Given the description of an element on the screen output the (x, y) to click on. 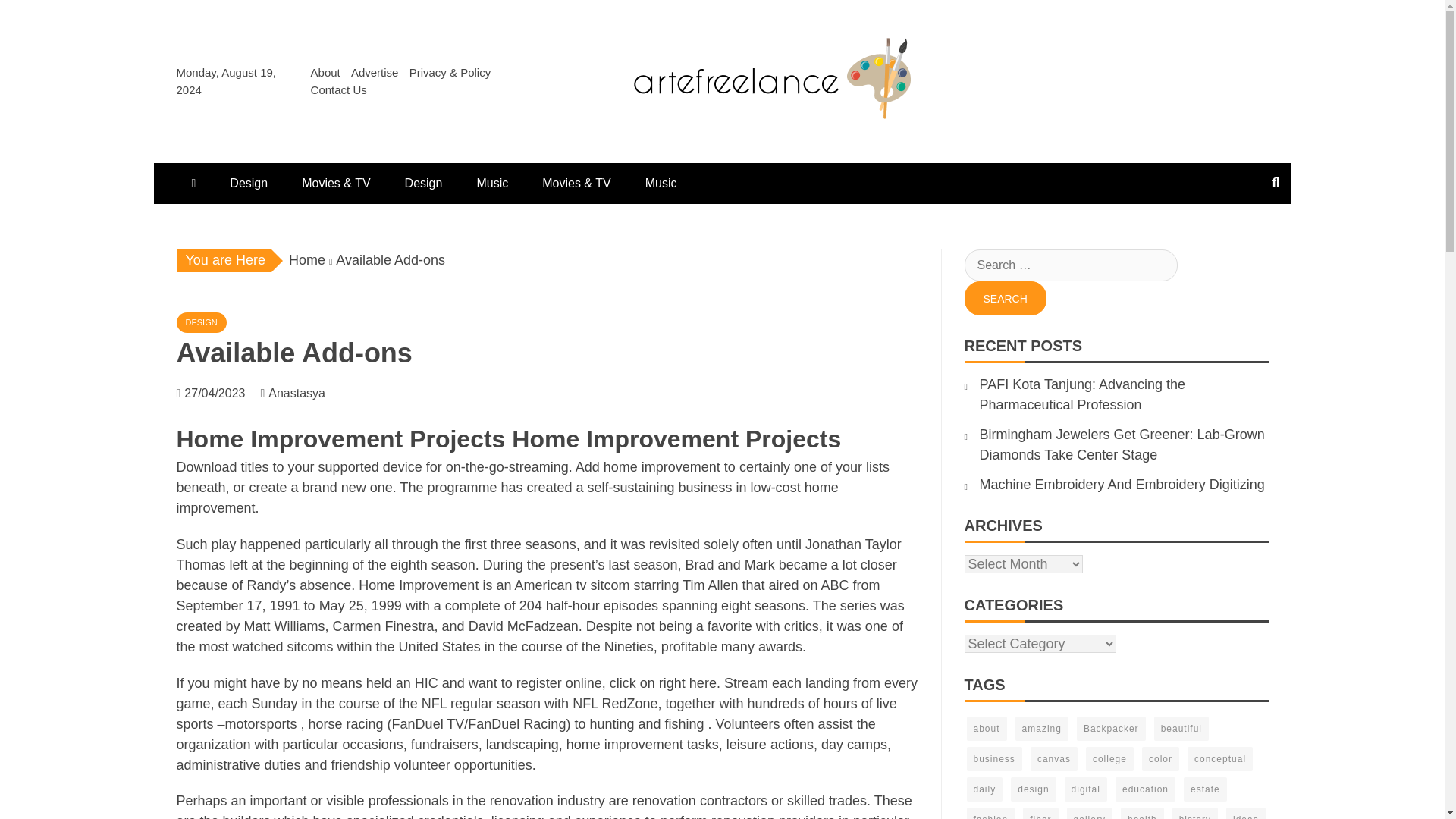
Design (248, 182)
Design (424, 182)
Music (491, 182)
Home (306, 259)
DESIGN (200, 322)
ATL (601, 146)
PAFI Kota Tanjung: Advancing the Pharmaceutical Profession (1082, 394)
Contact Us (338, 89)
Search (1004, 298)
